Given the description of an element on the screen output the (x, y) to click on. 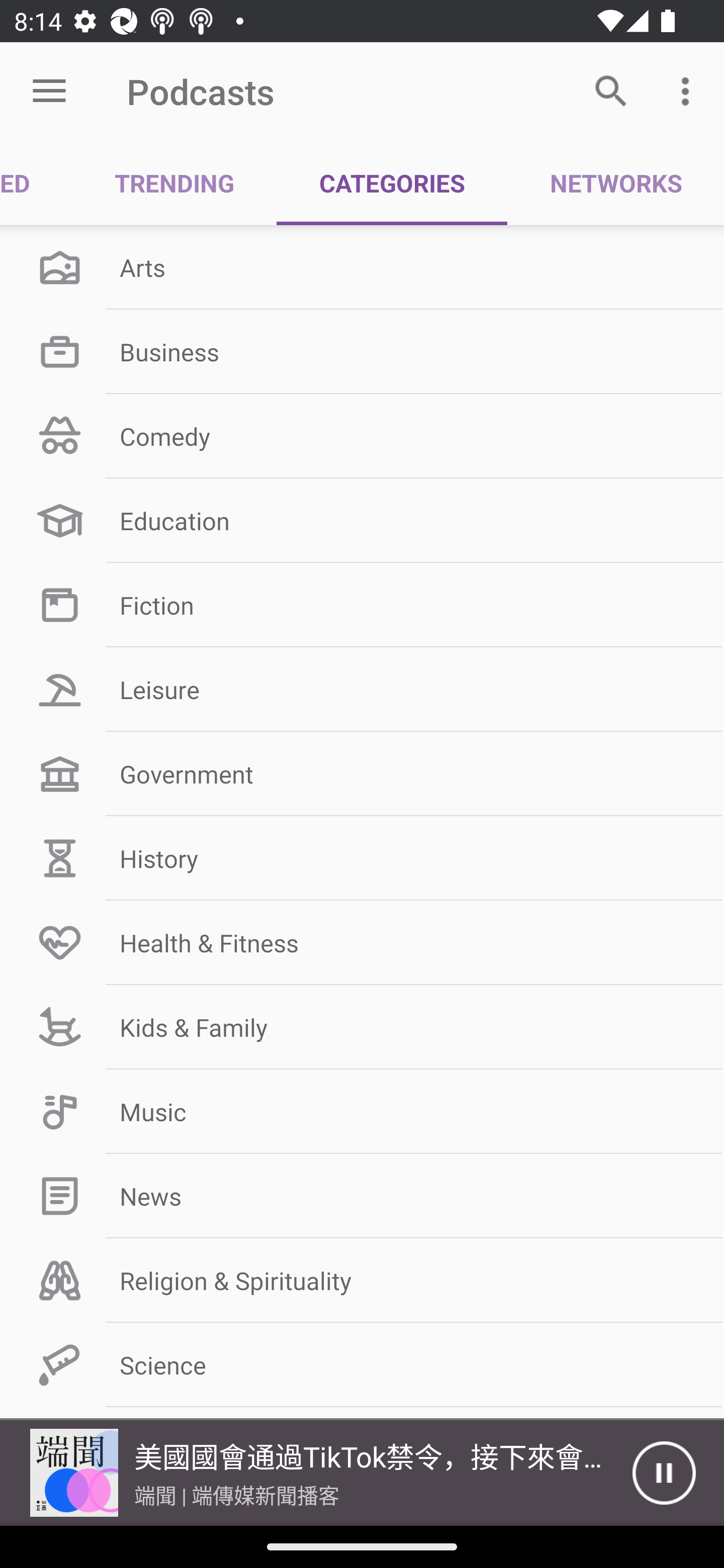
Open menu (49, 91)
Search (611, 90)
More options (688, 90)
TRENDING (174, 183)
CATEGORIES (391, 183)
NETWORKS (615, 183)
Arts (362, 266)
Business (362, 350)
Comedy (362, 435)
Education (362, 520)
Fiction (362, 604)
Leisure (362, 689)
Government (362, 774)
History (362, 858)
Health & Fitness (362, 942)
Kids & Family (362, 1026)
Music (362, 1111)
News (362, 1196)
Religion & Spirituality (362, 1280)
Science (362, 1364)
Picture 美國國會通過TikTok禁令，接下來會發生什麼？ 端聞 | 端傳媒新聞播客 (316, 1472)
Pause (663, 1472)
